Given the description of an element on the screen output the (x, y) to click on. 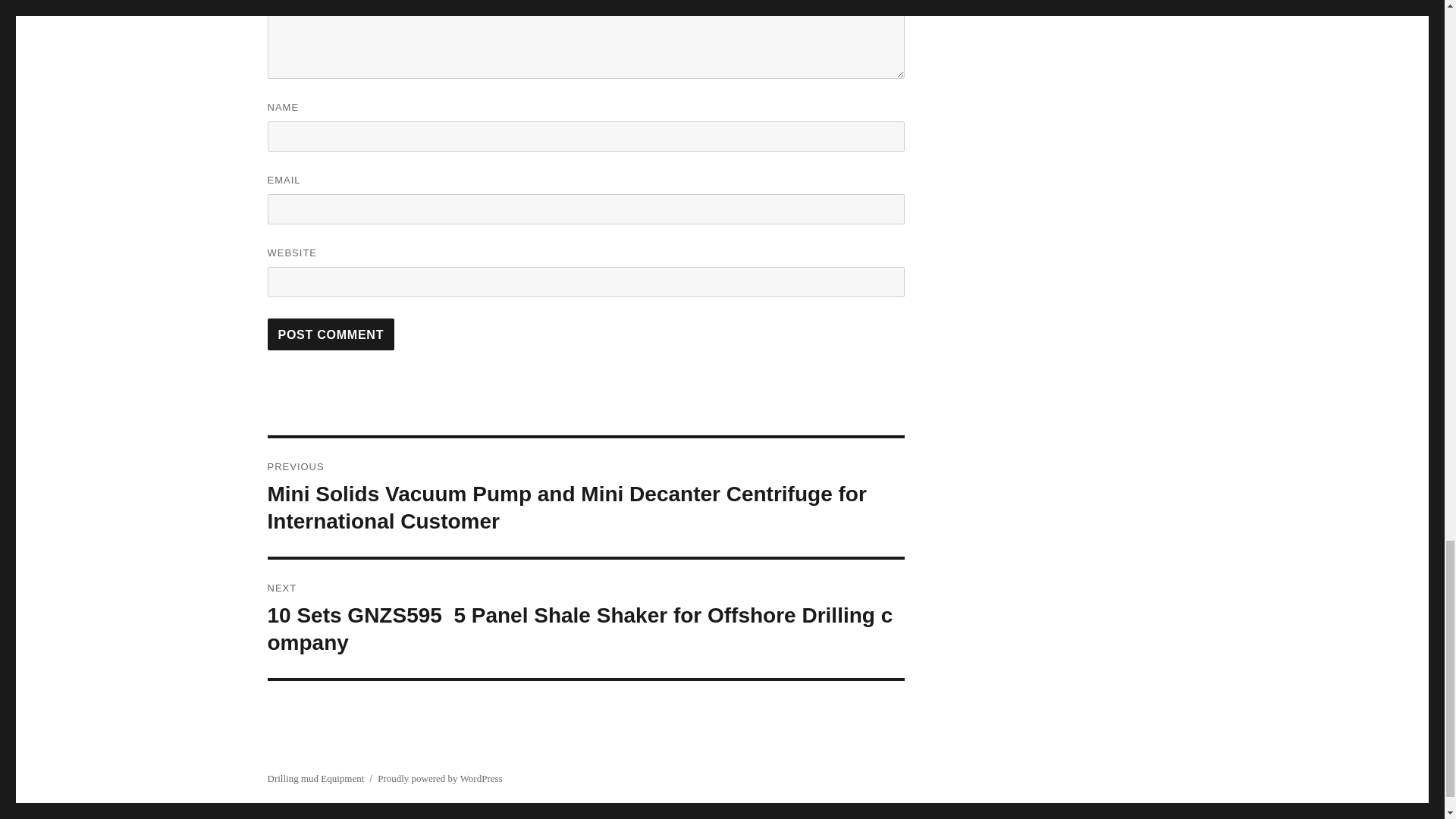
Post Comment (330, 334)
Post Comment (330, 334)
